Given the description of an element on the screen output the (x, y) to click on. 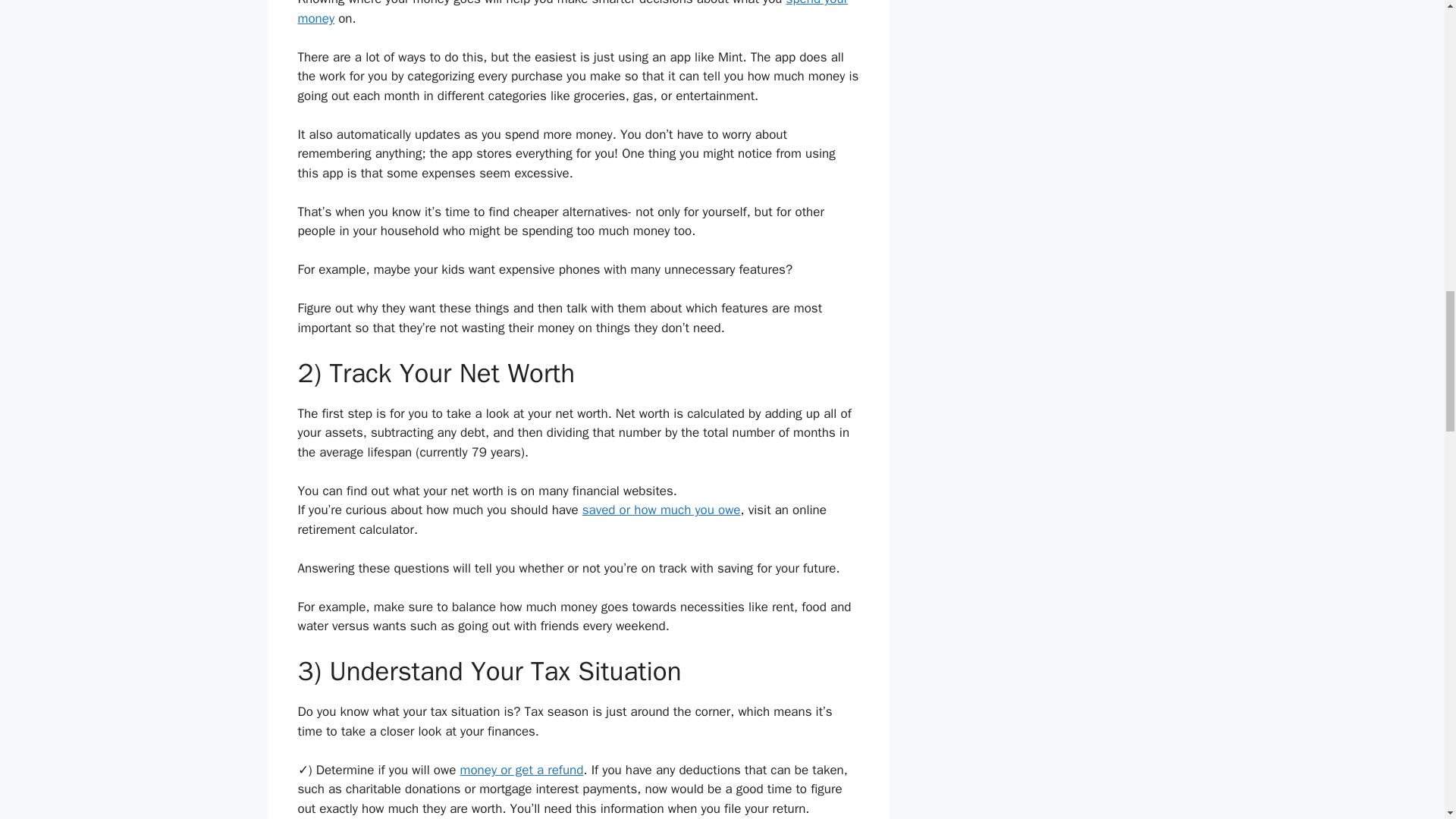
money or get a refund (521, 770)
spend your money (572, 13)
saved or how much you owe (661, 509)
